Given the description of an element on the screen output the (x, y) to click on. 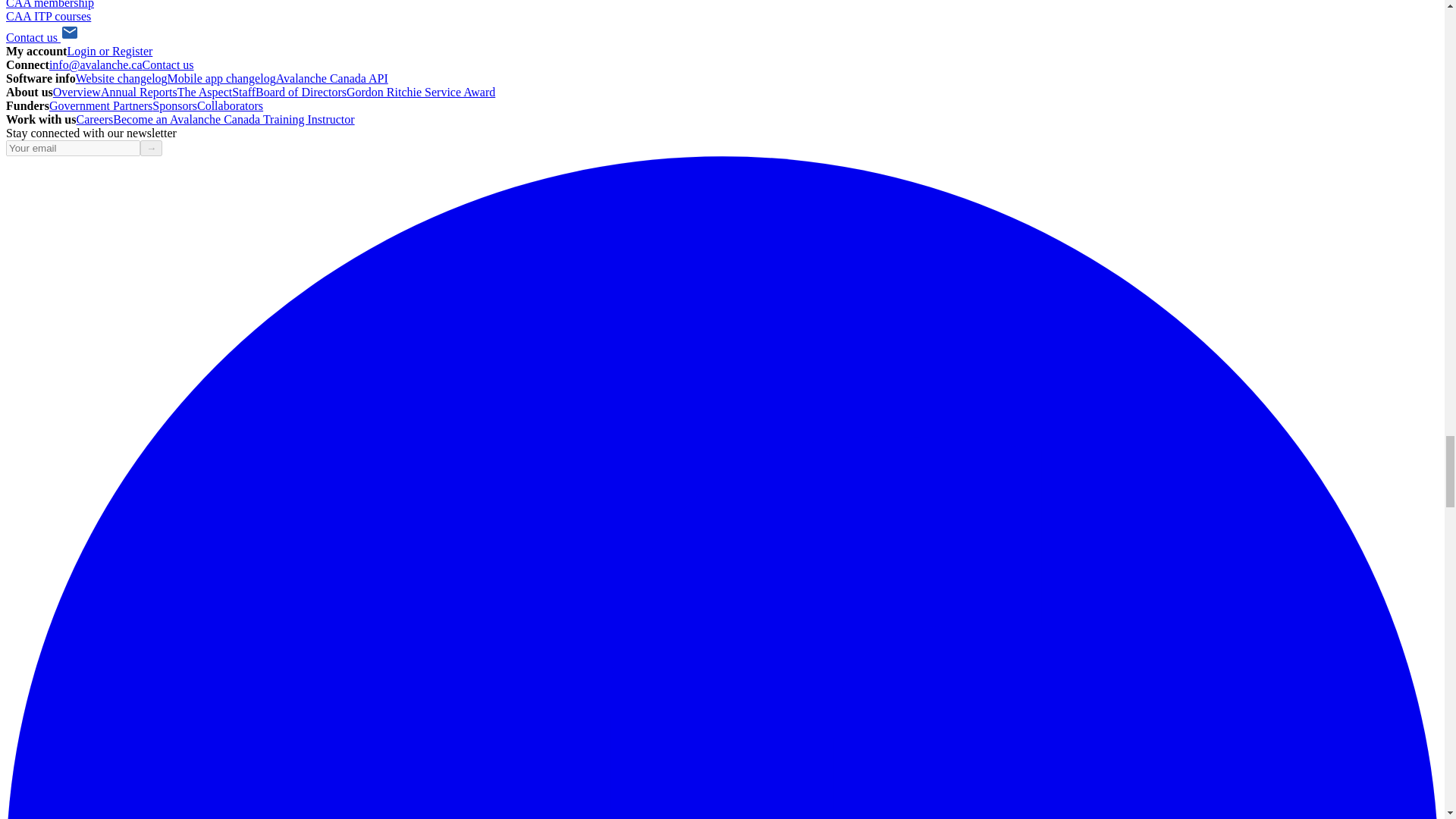
Government Partners (100, 105)
Board of Directors (301, 91)
CAA membership (49, 4)
Avalanche Canada API (332, 78)
Website changelog (121, 78)
Annual Reports (138, 91)
Contact us  (41, 37)
Contact us (167, 64)
Overview (76, 91)
Become an Avalanche Canada Training Instructor (233, 119)
Mobile app changelog (221, 78)
Login or Register (109, 51)
Collaborators (229, 105)
The Aspect (204, 91)
Careers (94, 119)
